Given the description of an element on the screen output the (x, y) to click on. 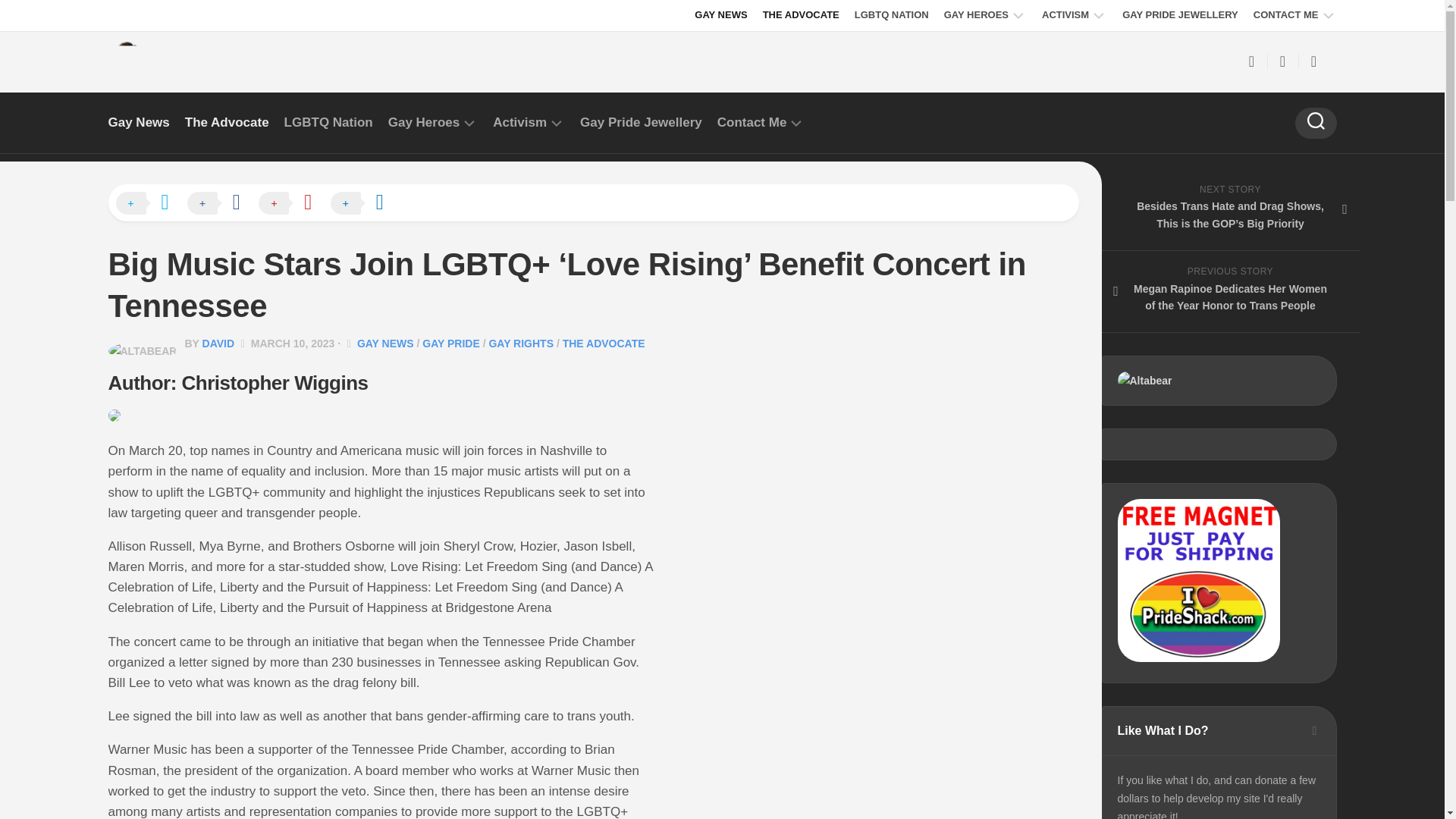
Share on Facebook (221, 203)
Share on LinkedIn (364, 203)
CONTACT ME (1286, 14)
Posts by David (218, 343)
THE ADVOCATE (801, 14)
Twitter (1282, 61)
Share on X (149, 203)
GAY PRIDE JEWELLERY (1180, 14)
LGBTQ NATION (891, 14)
Instagram (1313, 61)
